Given the description of an element on the screen output the (x, y) to click on. 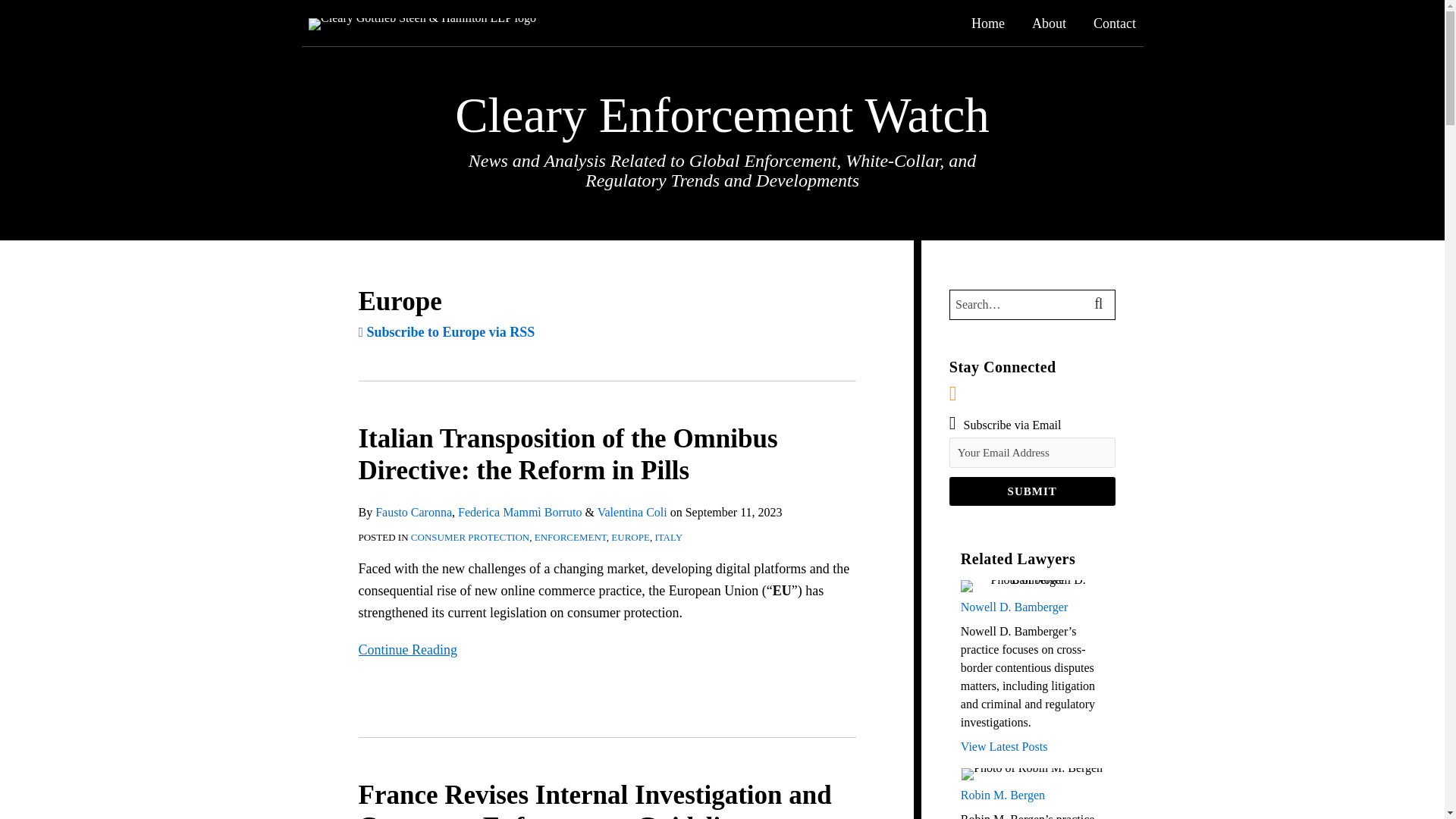
ENFORCEMENT (570, 536)
About (1048, 23)
Valentina Coli (631, 512)
CONSUMER PROTECTION (469, 536)
EUROPE (630, 536)
ITALY (667, 536)
Cleary Enforcement Watch (722, 114)
Contact (1114, 23)
Submit (1032, 491)
Subscribe to Europe via RSS (446, 331)
Home (987, 23)
Fausto Caronna (413, 512)
